Given the description of an element on the screen output the (x, y) to click on. 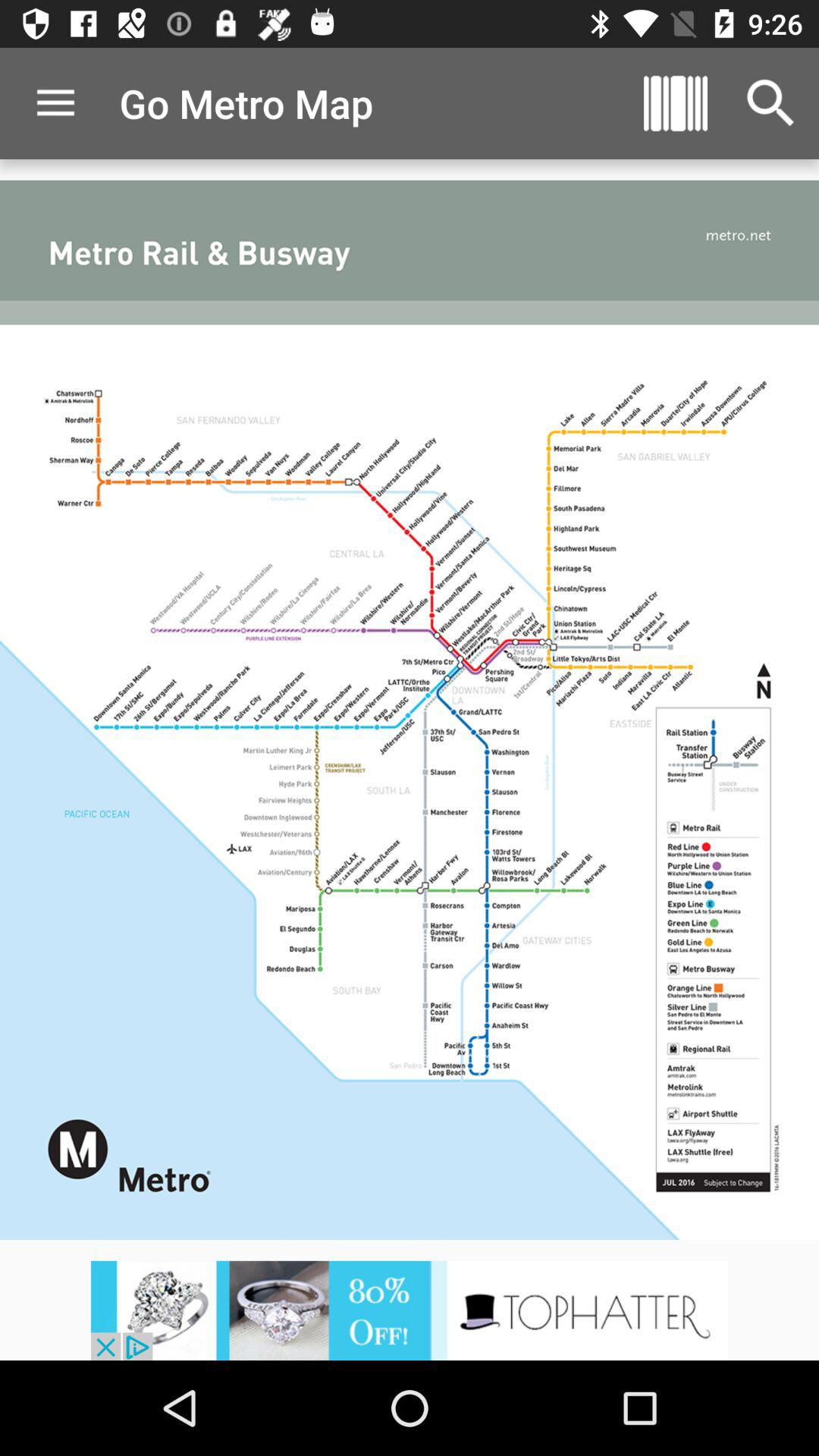
open advertisement (409, 1310)
